Given the description of an element on the screen output the (x, y) to click on. 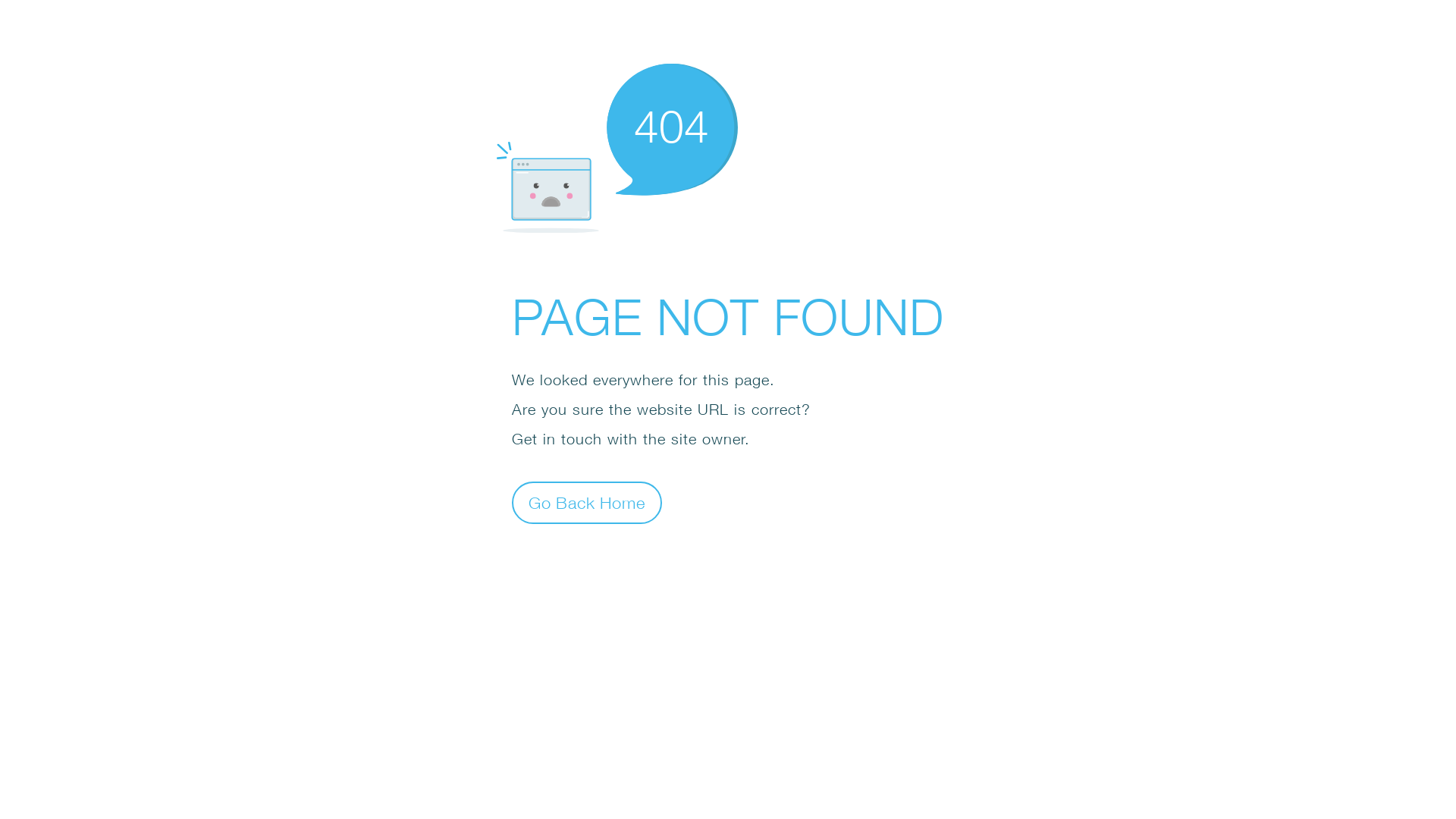
Go Back Home Element type: text (586, 502)
